Given the description of an element on the screen output the (x, y) to click on. 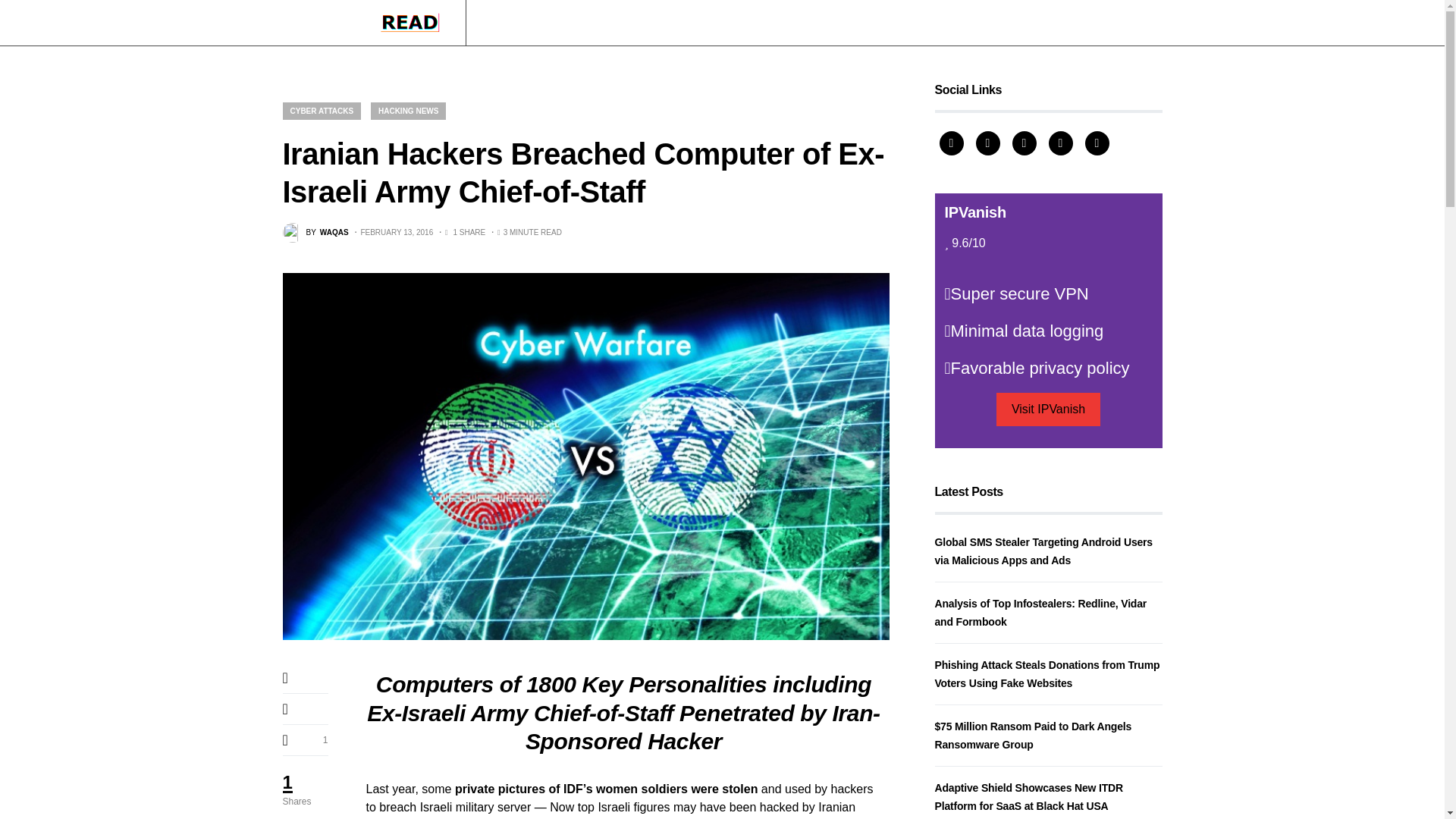
View all posts by Waqas (314, 232)
Hacking News (518, 22)
Technology (597, 22)
